Given the description of an element on the screen output the (x, y) to click on. 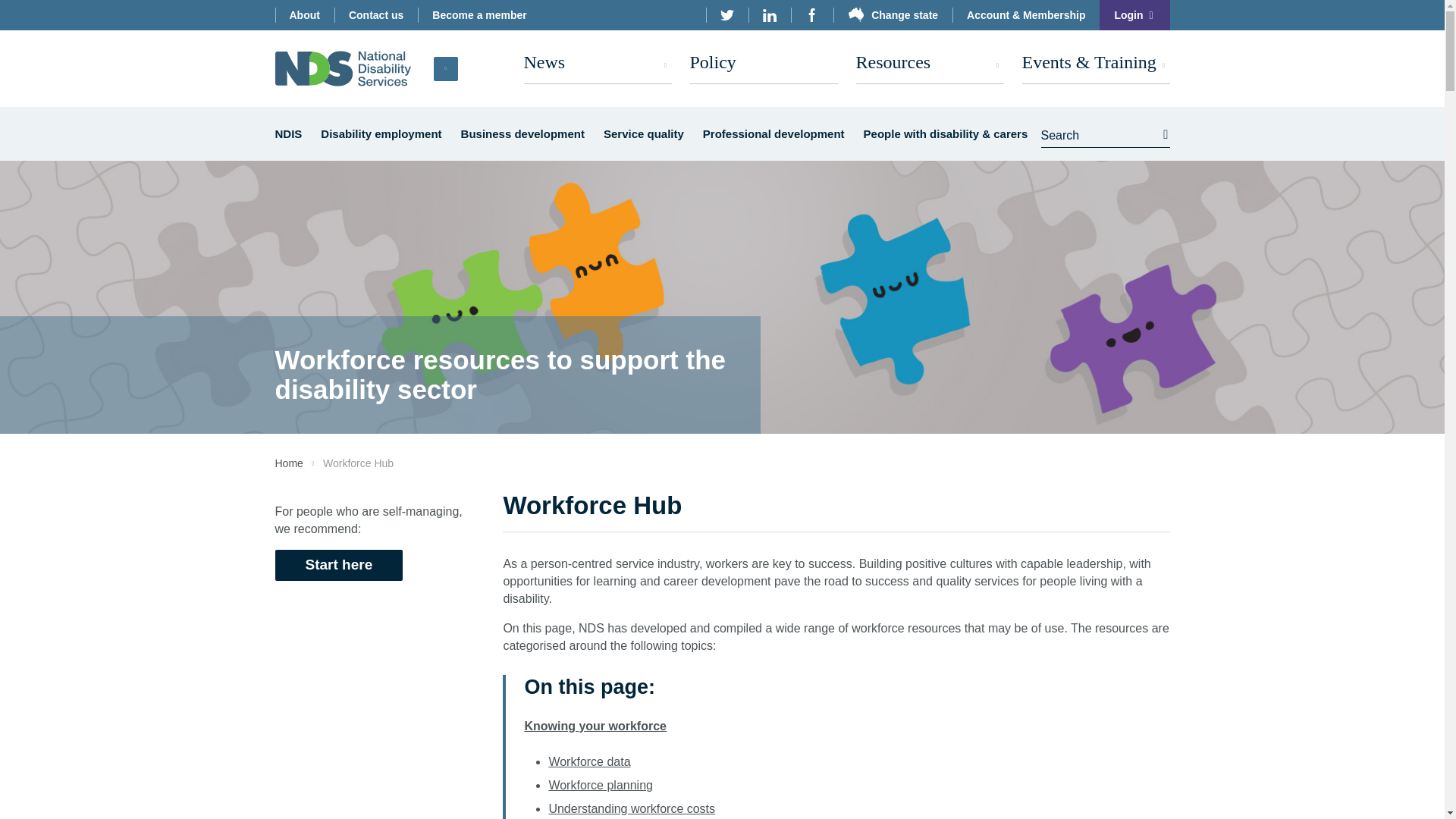
Login (1134, 15)
Global Menu (445, 68)
Change state (892, 15)
LinkedIn (769, 15)
Contact us (375, 15)
National Disability Services (342, 68)
Twitter (727, 15)
About (304, 15)
Facebook (811, 15)
Become a member (479, 15)
